Given the description of an element on the screen output the (x, y) to click on. 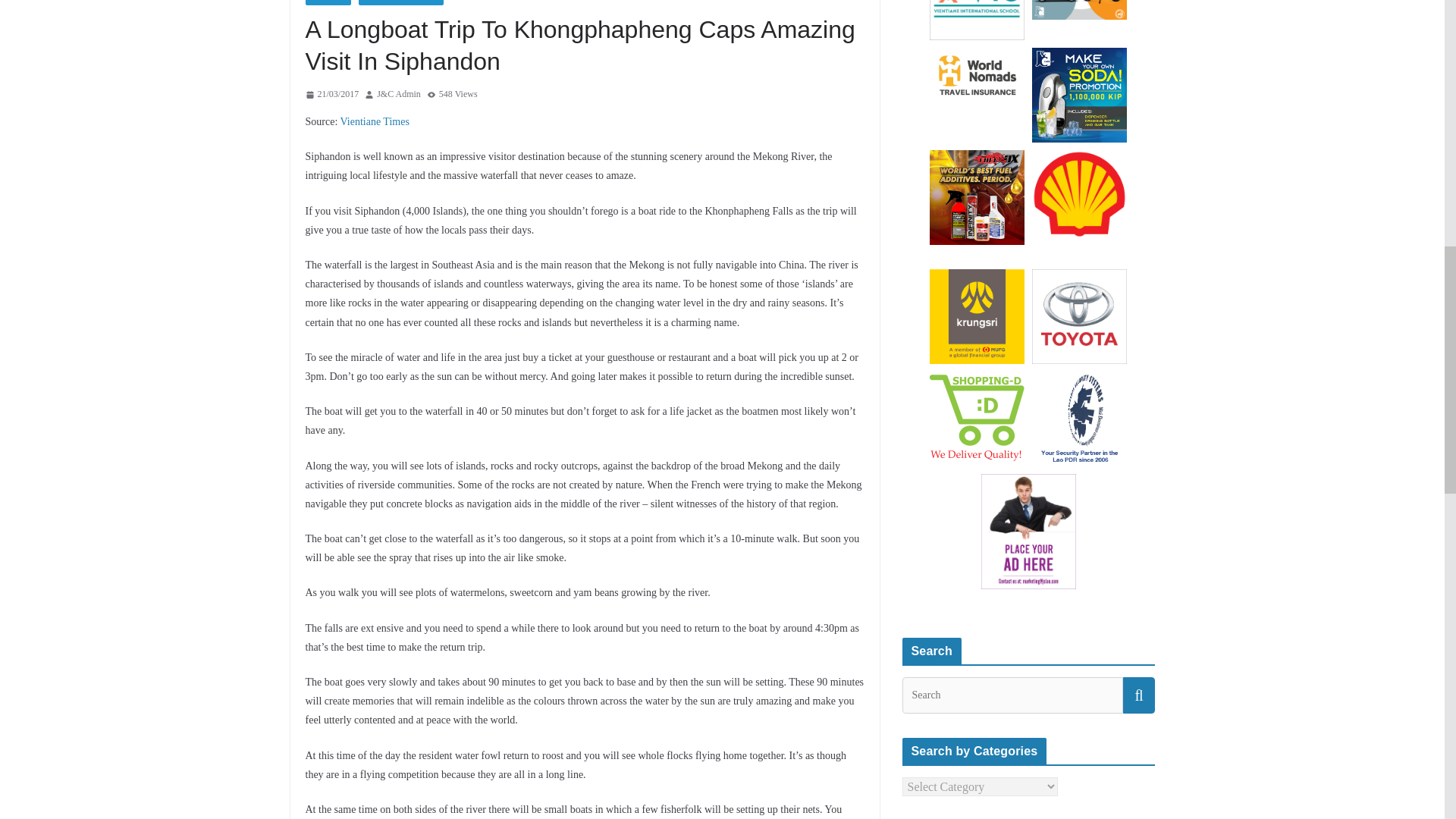
TOURISM (327, 2)
12:09 (331, 94)
Vientiane Times (374, 121)
